Given the description of an element on the screen output the (x, y) to click on. 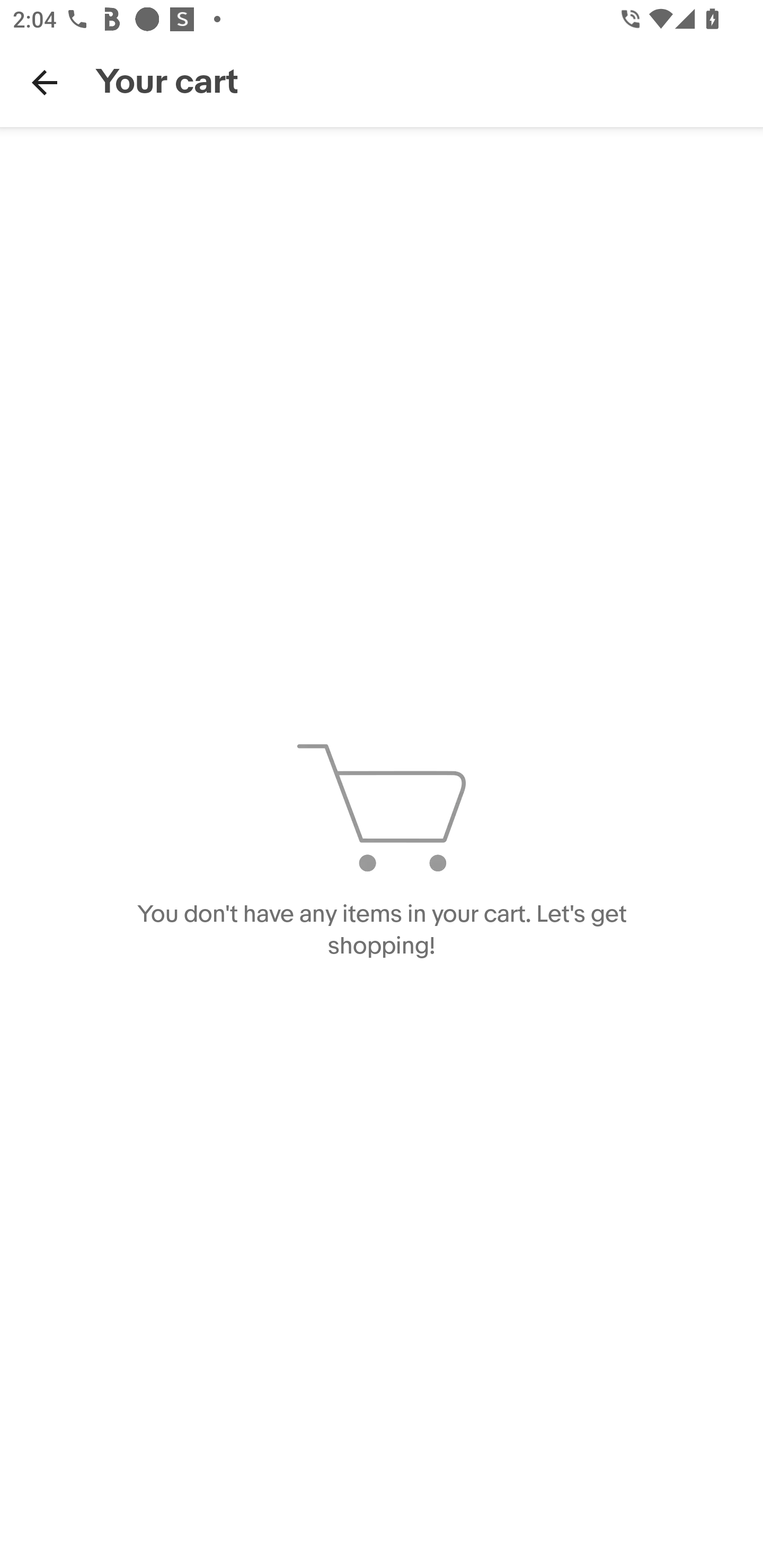
Navigate up (44, 82)
